Given the description of an element on the screen output the (x, y) to click on. 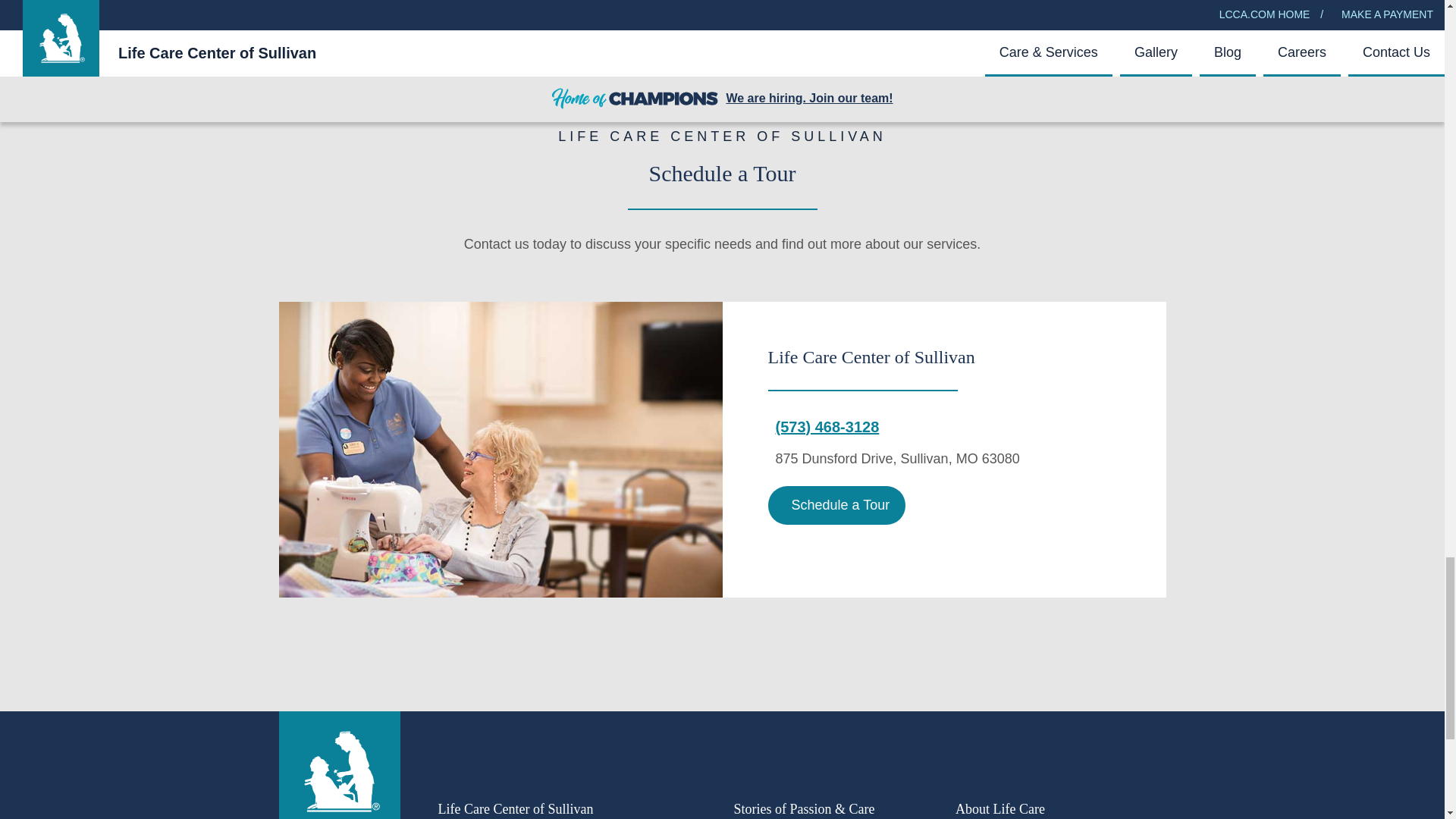
Schedule a Tour (836, 505)
Life Care Center of Sullivan (500, 449)
Life Care Centers of America (340, 772)
